Given the description of an element on the screen output the (x, y) to click on. 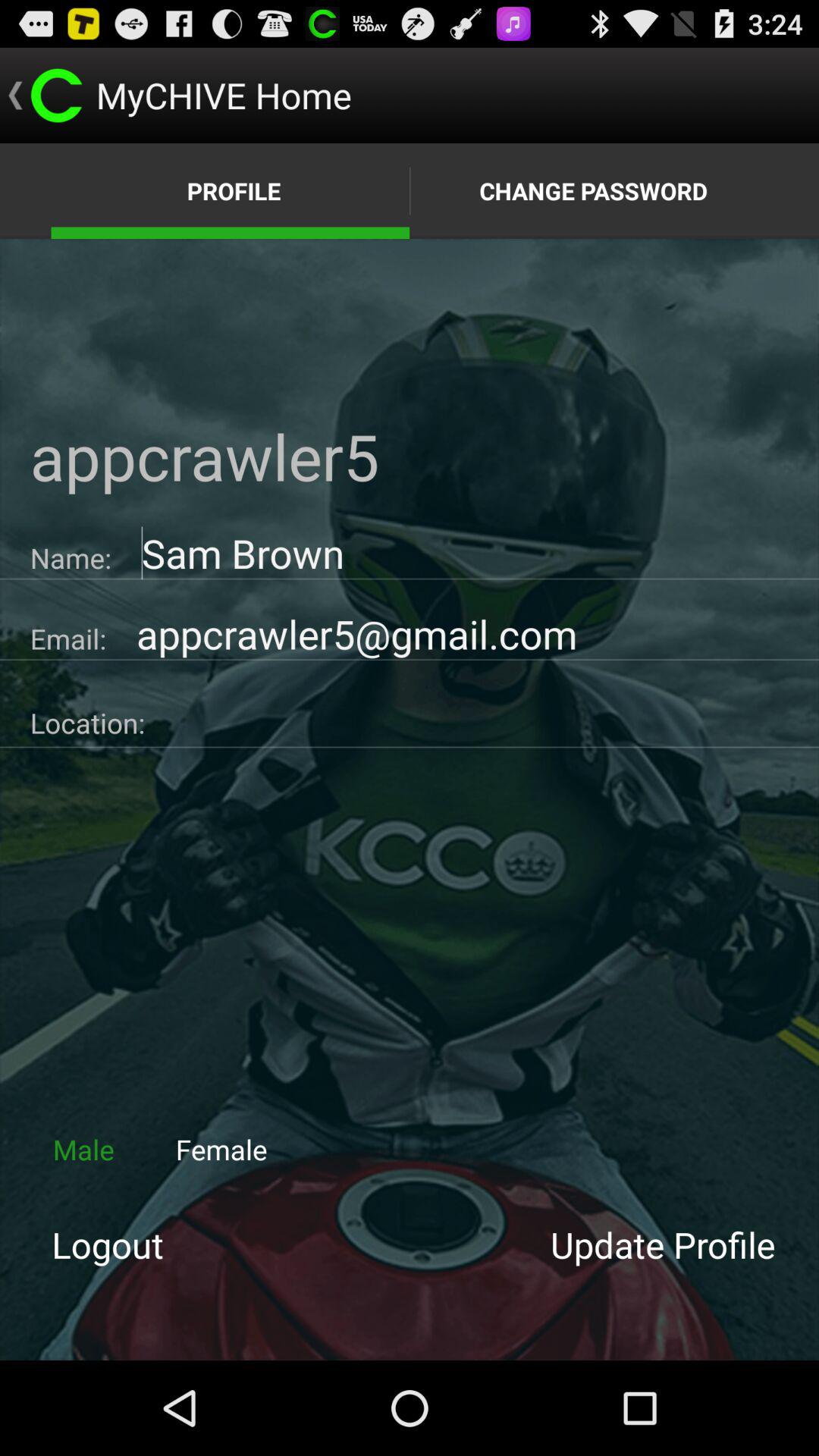
to enter location information (482, 717)
